Given the description of an element on the screen output the (x, y) to click on. 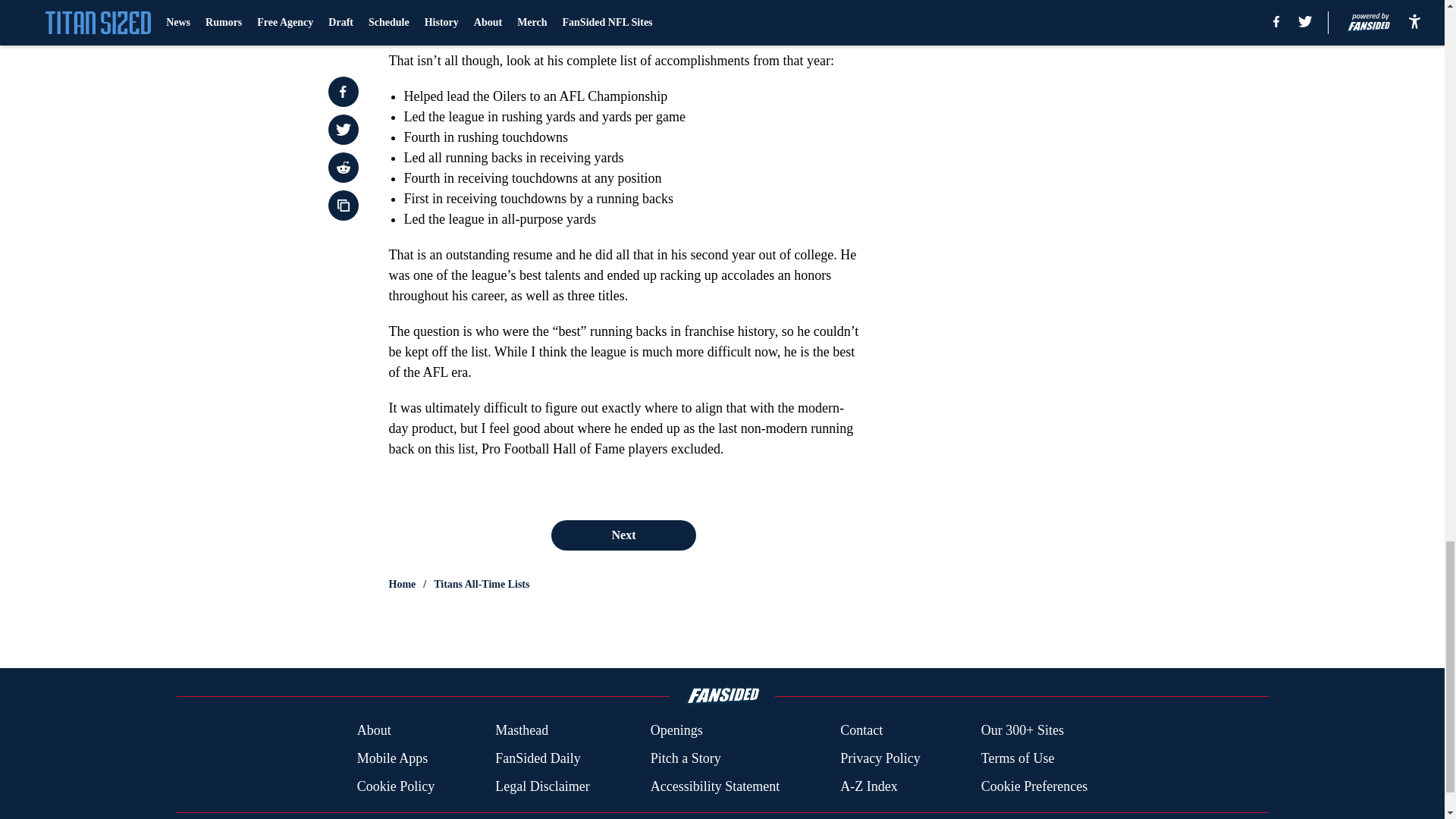
Titans All-Time Lists (481, 584)
Privacy Policy (880, 758)
Home (401, 584)
Terms of Use (1017, 758)
About (373, 730)
Pitch a Story (685, 758)
Masthead (521, 730)
FanSided Daily (537, 758)
Cookie Policy (395, 786)
Contact (861, 730)
Openings (676, 730)
Next (622, 535)
Mobile Apps (392, 758)
